Given the description of an element on the screen output the (x, y) to click on. 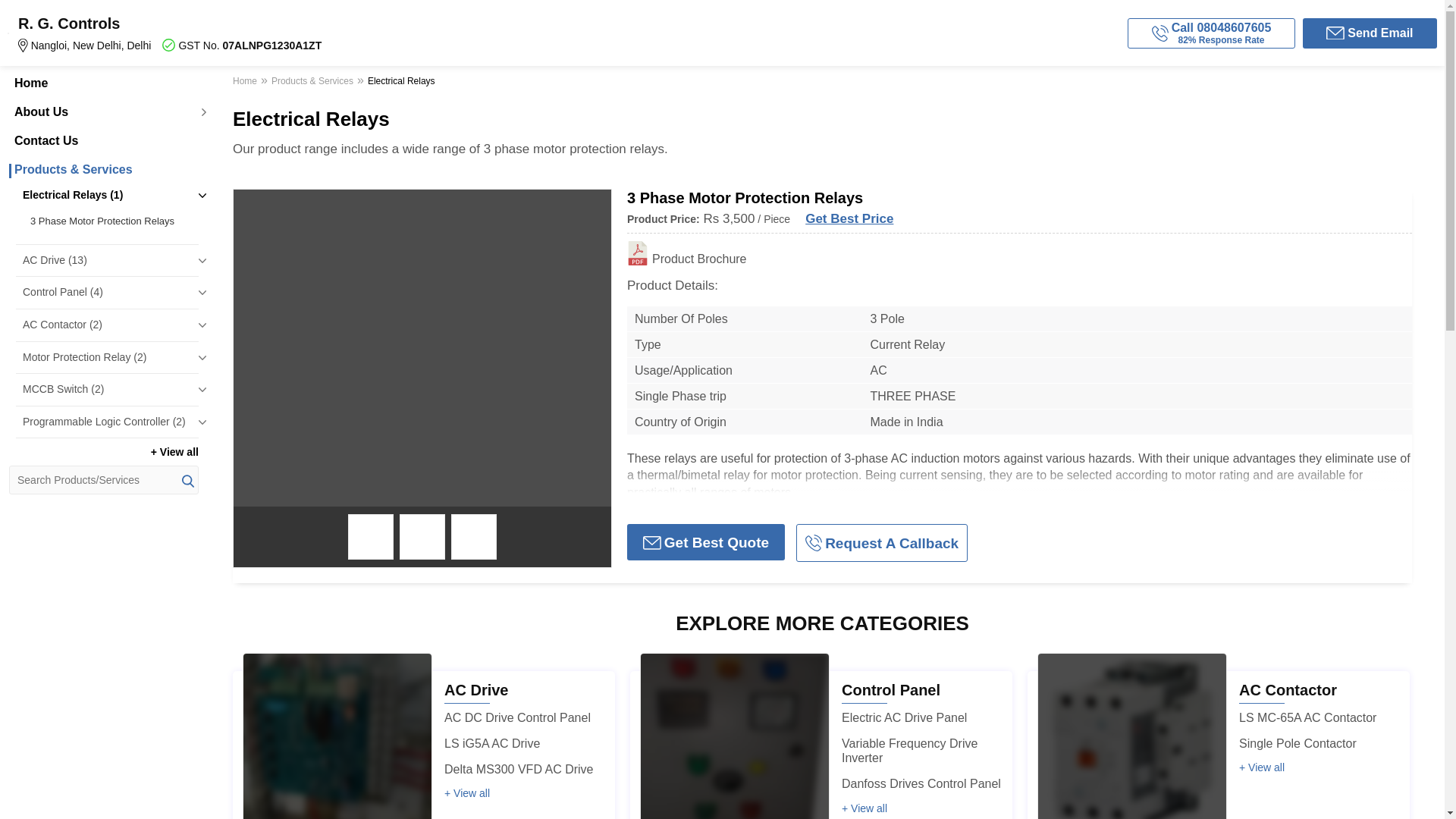
About Us (103, 111)
LS iG5A AC Drive (492, 743)
Home (103, 82)
3 Phase Motor Protection Relays (110, 221)
AC Drive (476, 689)
AC DC Drive Control Panel (517, 717)
Contact Us (103, 141)
Home (246, 83)
